Given the description of an element on the screen output the (x, y) to click on. 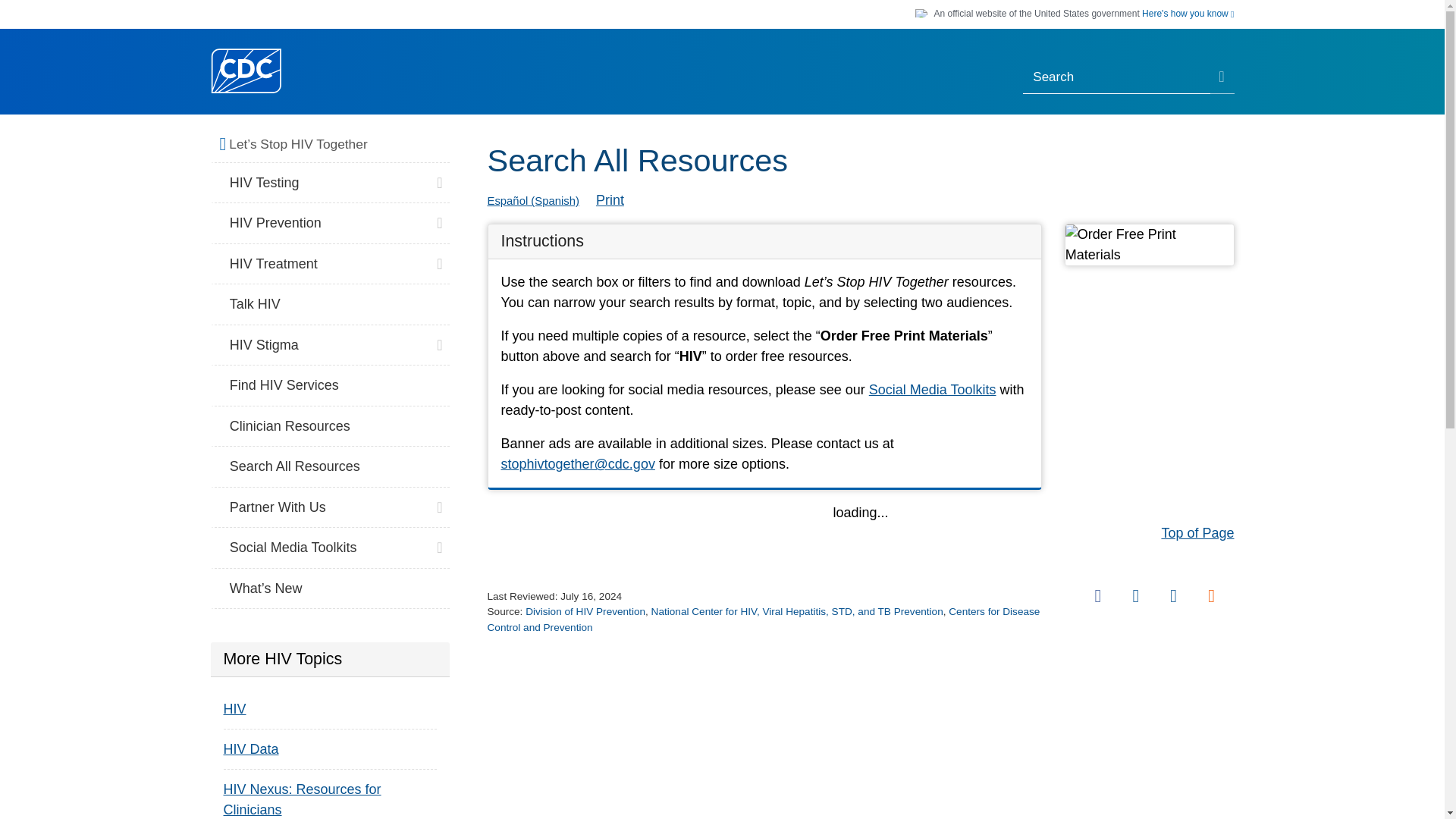
plus icon (437, 259)
Centers for Disease Control and Prevention (762, 619)
HIV Prevention (330, 223)
HIV Treatment (330, 264)
plus icon (437, 218)
plus icon (437, 178)
Social Media Toolkits (932, 389)
Print (609, 200)
Talk HIV (330, 304)
Division of HIV Prevention (585, 611)
HIV Stigma (330, 345)
Here's how you know (1187, 14)
Top of Page (1196, 532)
